Given the description of an element on the screen output the (x, y) to click on. 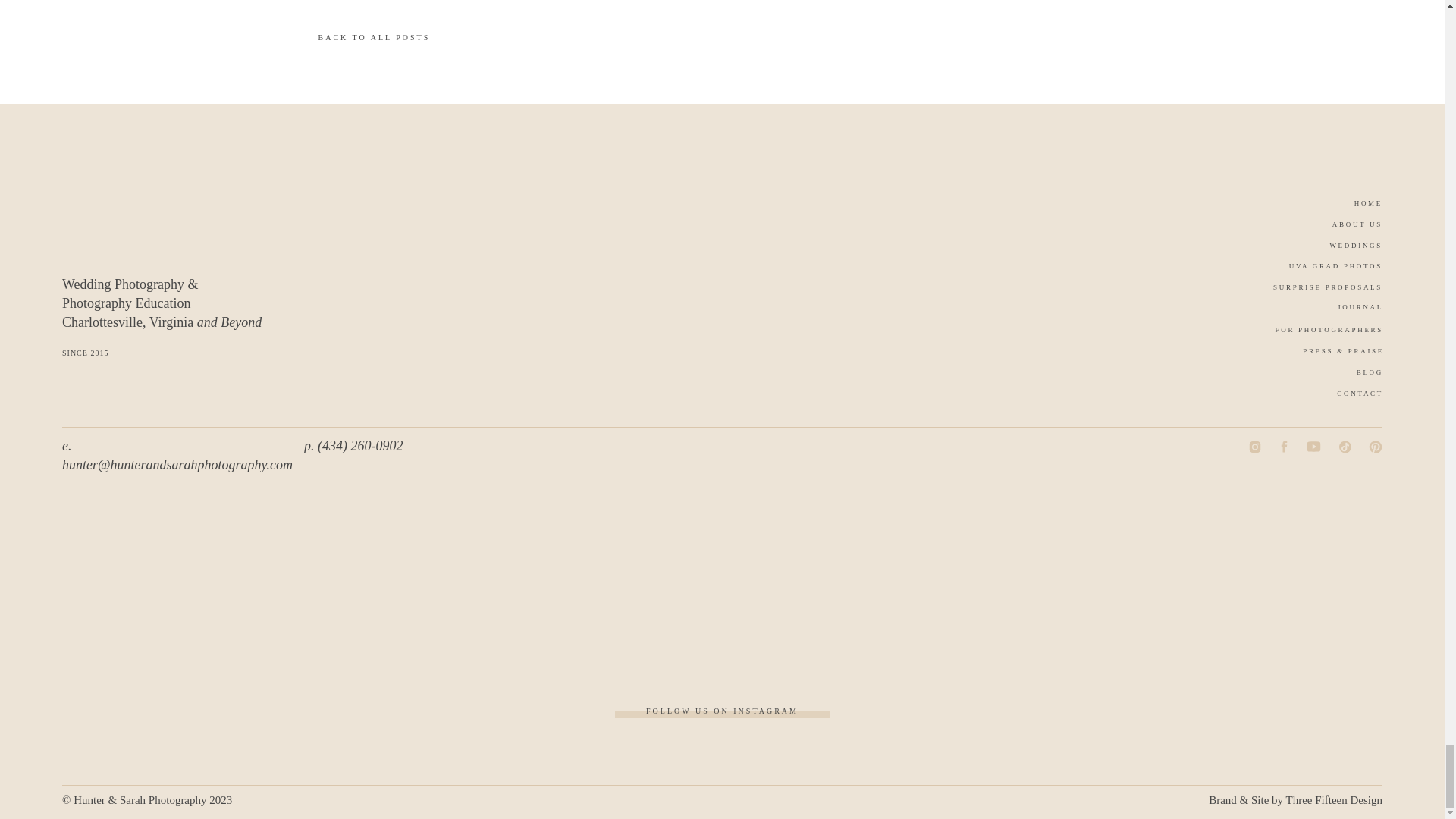
ABOUT US (1344, 225)
CONTACT (1348, 395)
FOR PHOTOGRAPHERS (1305, 331)
UVA GRAD PHOTOS (1307, 267)
HOME (1357, 204)
SURPRISE PROPOSALS (1307, 289)
WEDDINGS (1341, 247)
BACK TO ALL POSTS (497, 42)
BLOG (1360, 374)
FOLLOW US ON INSTAGRAM (722, 711)
JOURNAL (1347, 308)
